Given the description of an element on the screen output the (x, y) to click on. 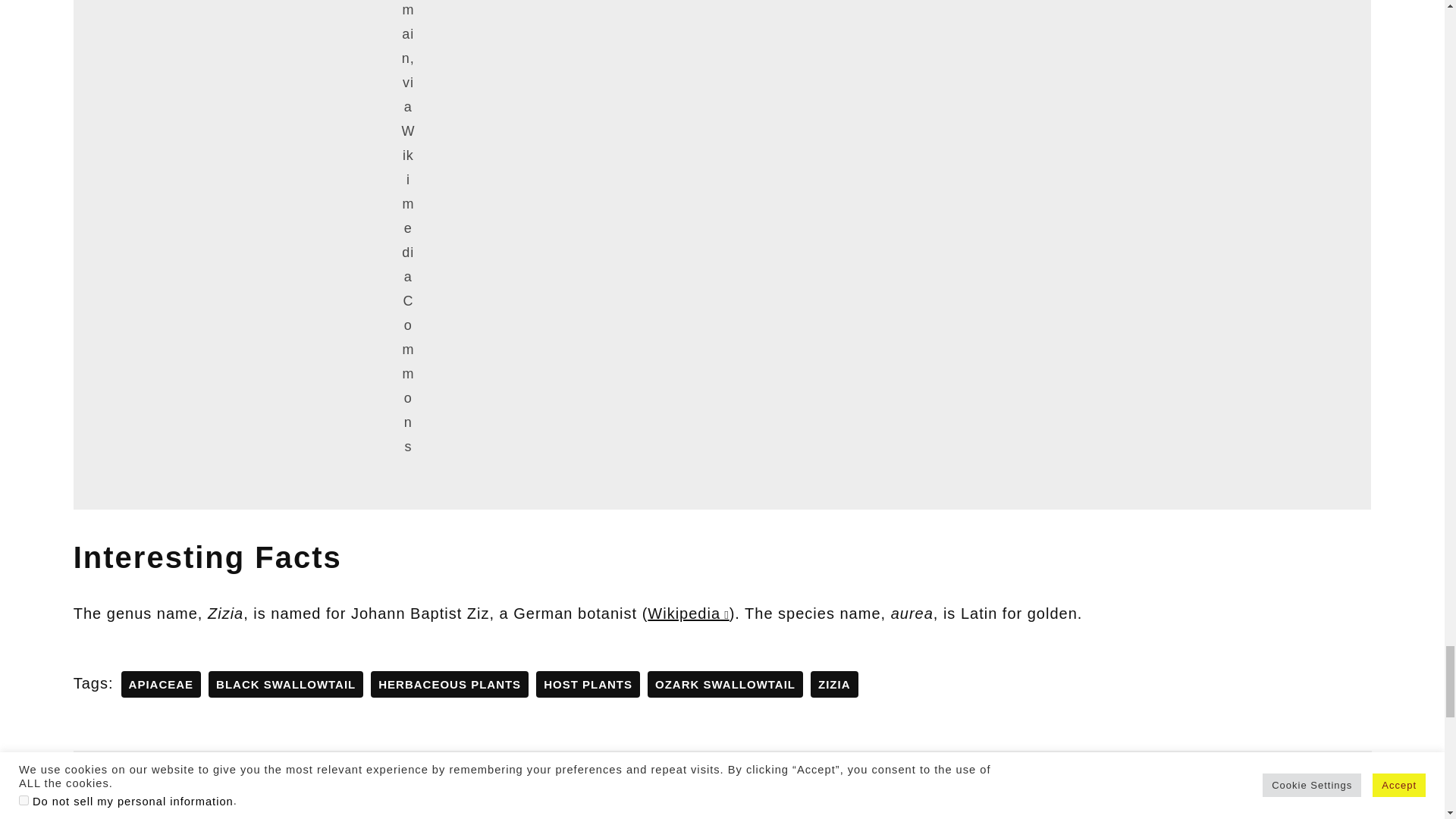
Zizia (834, 683)
Ozark Swallowtail (725, 683)
Herbaceous Plants (449, 683)
Host Plants (587, 683)
Black Swallowtail (285, 683)
Apiaceae (161, 683)
